Given the description of an element on the screen output the (x, y) to click on. 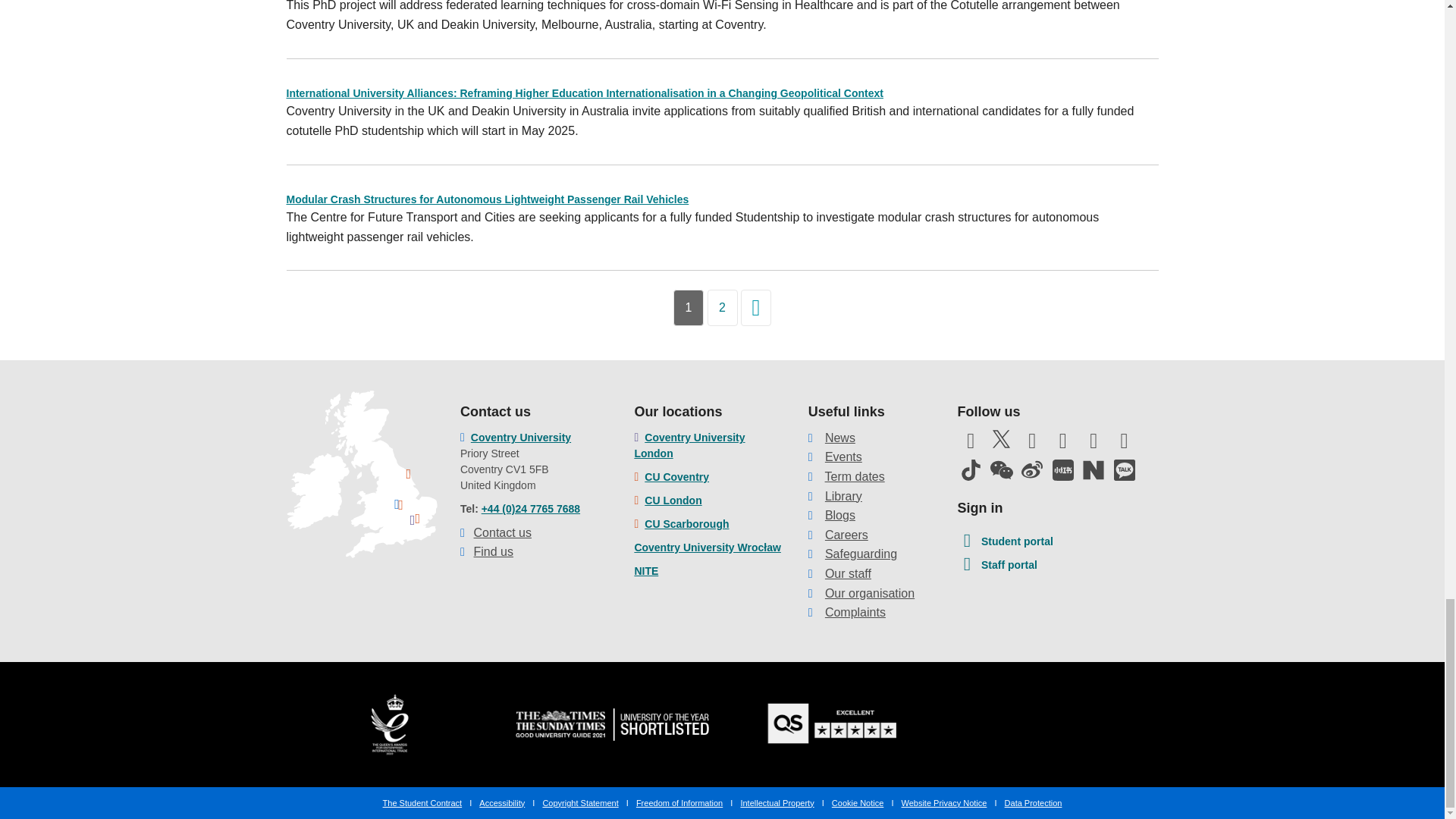
Blogs (840, 514)
News (840, 437)
Our staff (847, 573)
Term dates (855, 476)
Staff portal website (996, 565)
Library (843, 495)
Subscribe to our YouTube Channel (1031, 444)
Like us on Facebook (970, 444)
QS Five Star Rating 2023 (832, 724)
University of the year shortlisted (611, 724)
